Given the description of an element on the screen output the (x, y) to click on. 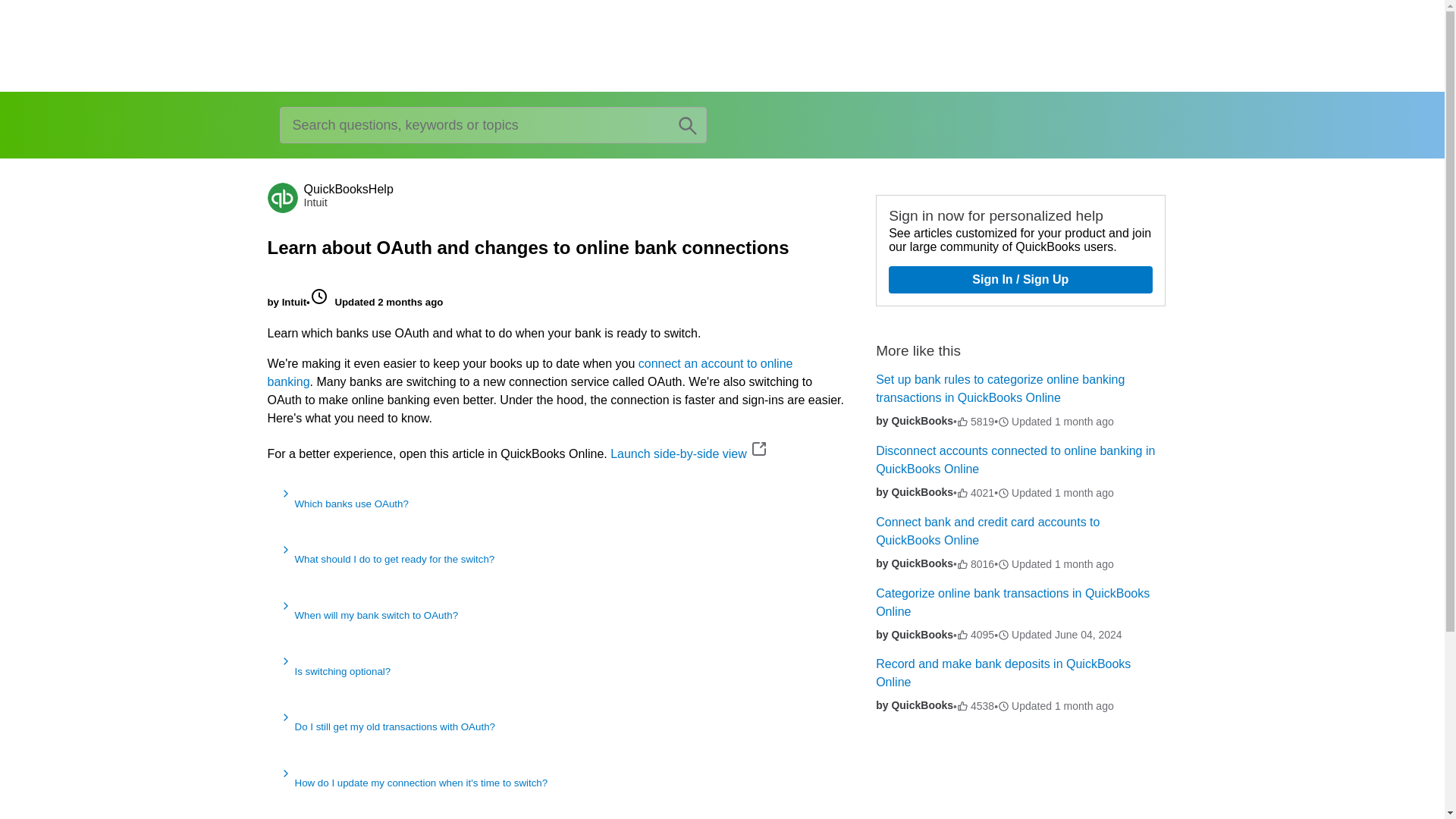
Which banks use OAuth? (555, 503)
Categorize online bank transactions in QuickBooks Online (1013, 602)
Is switching optional? (555, 670)
Connect bank and credit card accounts to QuickBooks Online (987, 531)
When will my bank switch to OAuth? (555, 615)
What should I do to get ready for the switch? (555, 559)
Launch side-by-side view (678, 453)
Do I still get my old transactions with OAuth? (555, 727)
How do I update my connection when it's time to switch? (555, 783)
connect an account to online banking (529, 372)
Record and make bank deposits in QuickBooks Online (1003, 672)
